Given the description of an element on the screen output the (x, y) to click on. 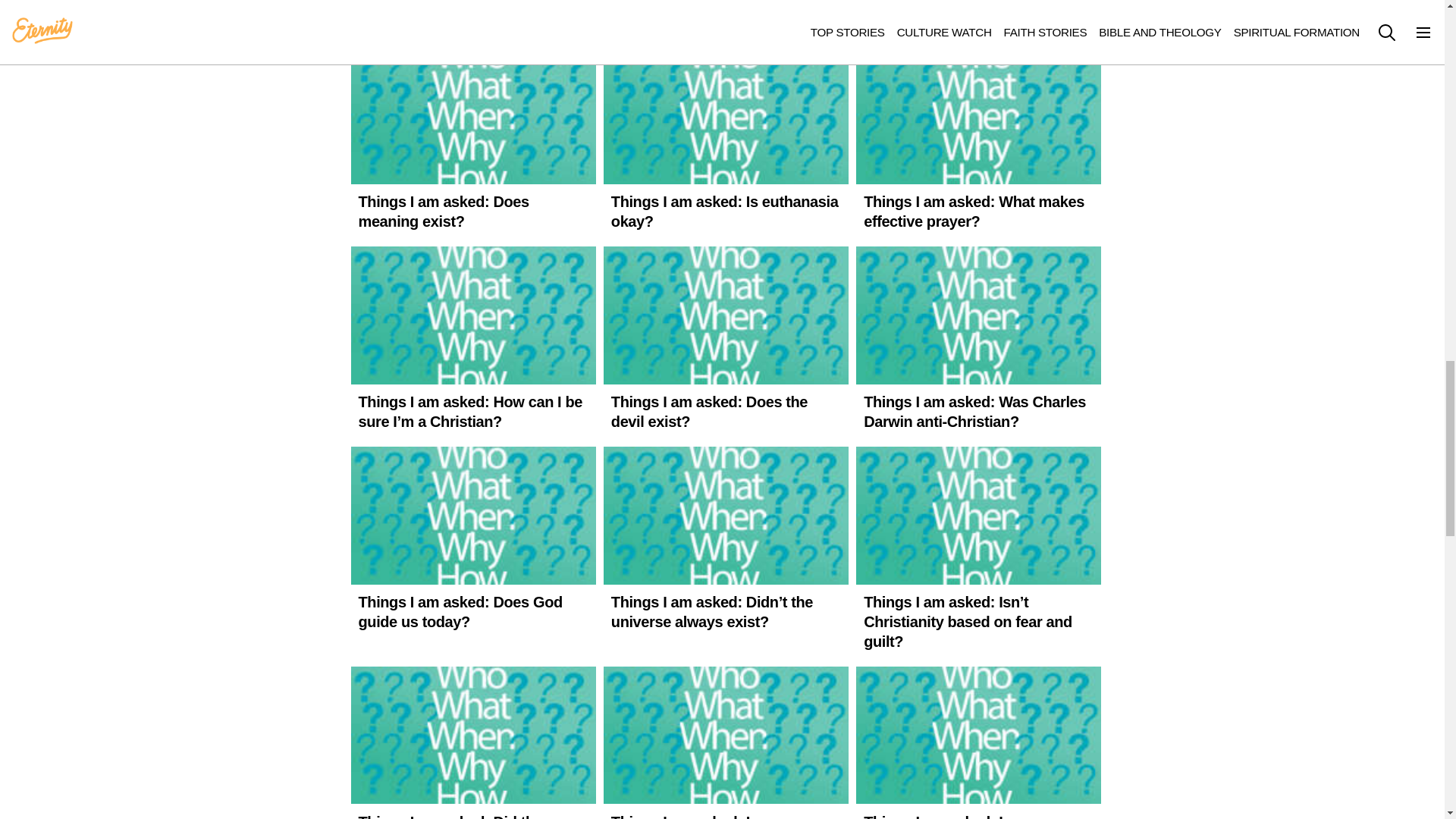
Things I am asked: How can I overcome temptation? (472, 19)
Things I am asked: What does healthy grief look like? (726, 19)
Things I am asked: Does meaning exist? (472, 142)
